Given the description of an element on the screen output the (x, y) to click on. 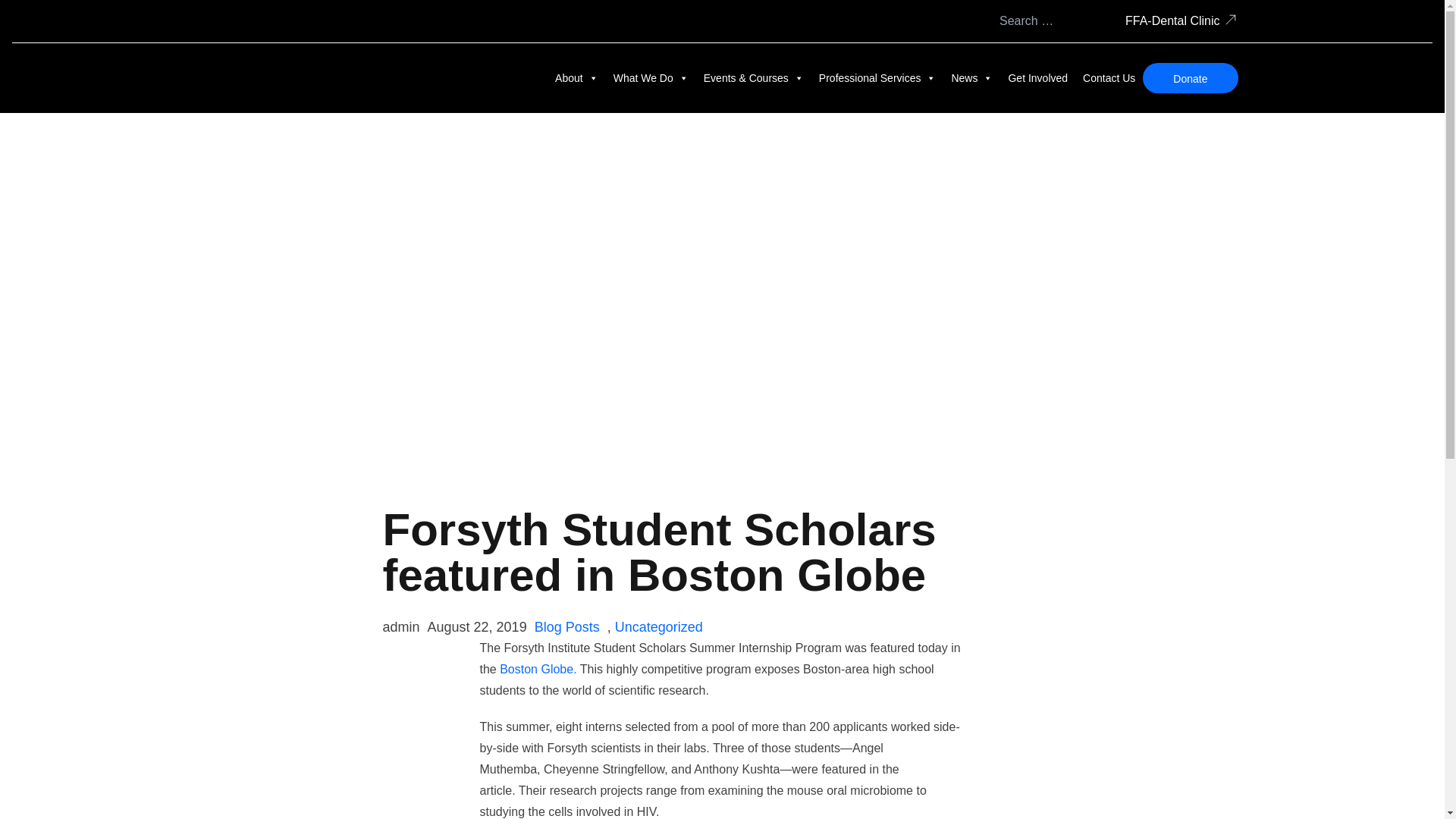
Search (1099, 21)
What We Do (650, 77)
FFA-Dental Clinic (1172, 21)
Search (1099, 21)
Search (1099, 21)
About (576, 77)
